Given the description of an element on the screen output the (x, y) to click on. 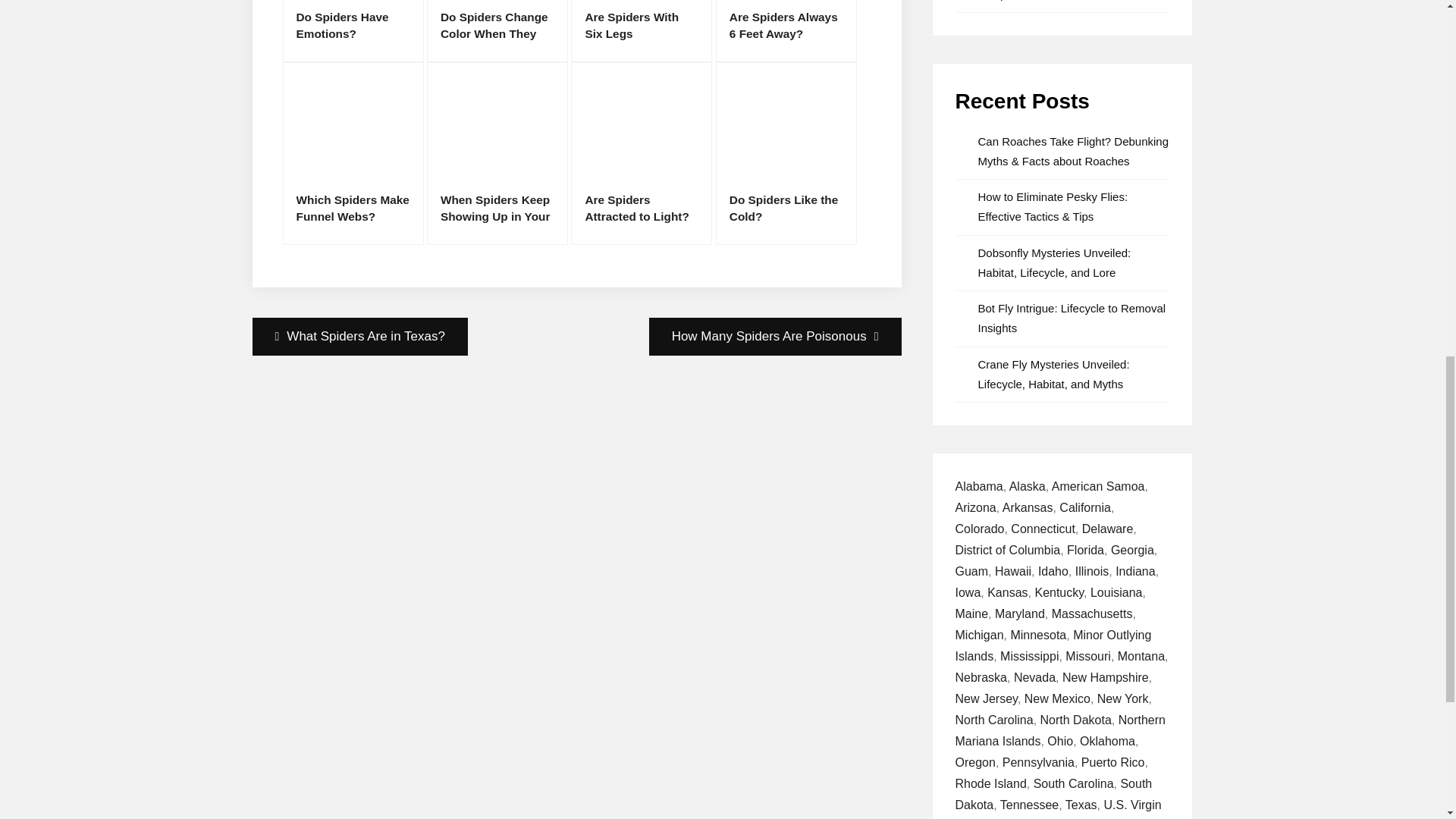
How Many Spiders Are Poisonous (775, 336)
Do Spiders Change Color When They Die? (496, 31)
Are Spiders Always 6 Feet Away? (786, 31)
Are Spiders Always 6 Feet Away? (786, 31)
What Spiders Are in Texas? (359, 336)
Do Spiders Have Emotions? (352, 31)
Do Spiders Have Emotions? (352, 31)
Dobsonfly Mysteries Unveiled: Habitat, Lifecycle, and Lore (1054, 262)
Bot Fly Intrigue: Lifecycle to Removal Insights (1072, 318)
